Given the description of an element on the screen output the (x, y) to click on. 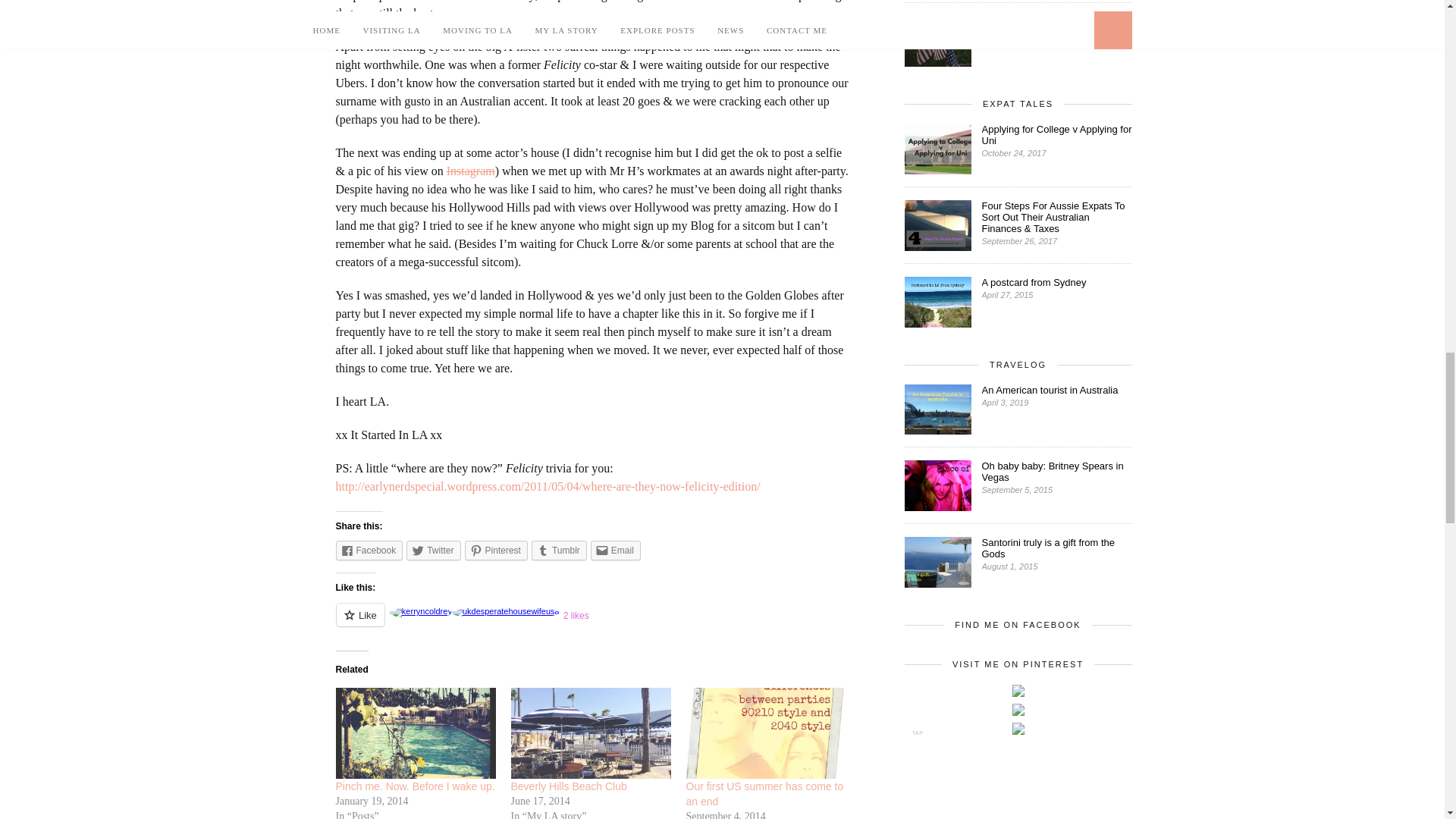
Click to share on Pinterest (495, 550)
Click to share on Facebook (368, 550)
Click to share on Tumblr (558, 550)
Click to share on Twitter (433, 550)
Click to email this to a friend (615, 550)
Where are the Felicity stars now? (547, 486)
